Given the description of an element on the screen output the (x, y) to click on. 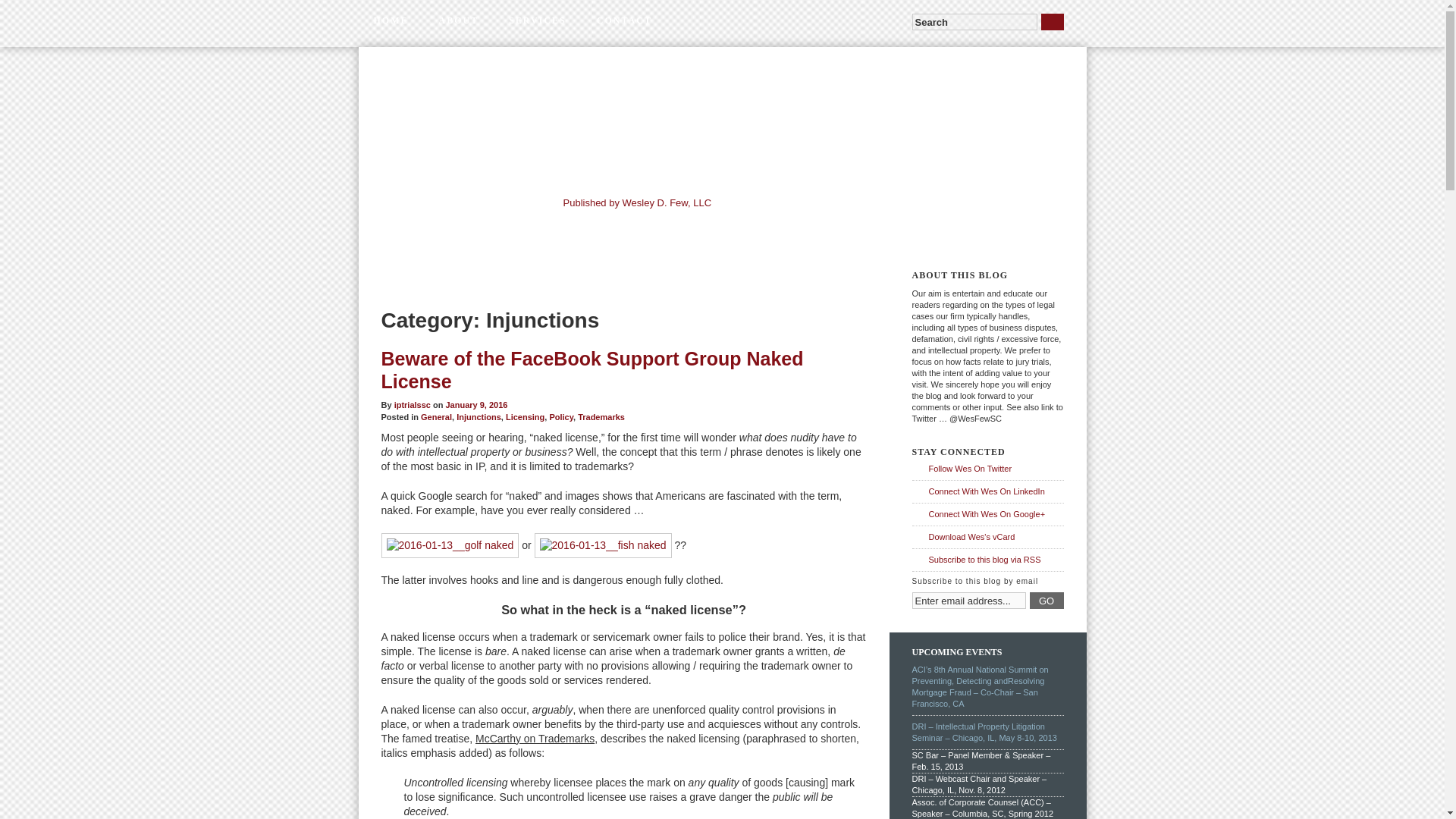
Injunctions (478, 416)
Published by Wesley D. Few, LLC (683, 225)
Go (1051, 21)
Search (973, 21)
GO (1046, 600)
SERVICES (536, 22)
Go (1051, 21)
CONTACT (623, 22)
HOME (390, 22)
General (435, 416)
